Given the description of an element on the screen output the (x, y) to click on. 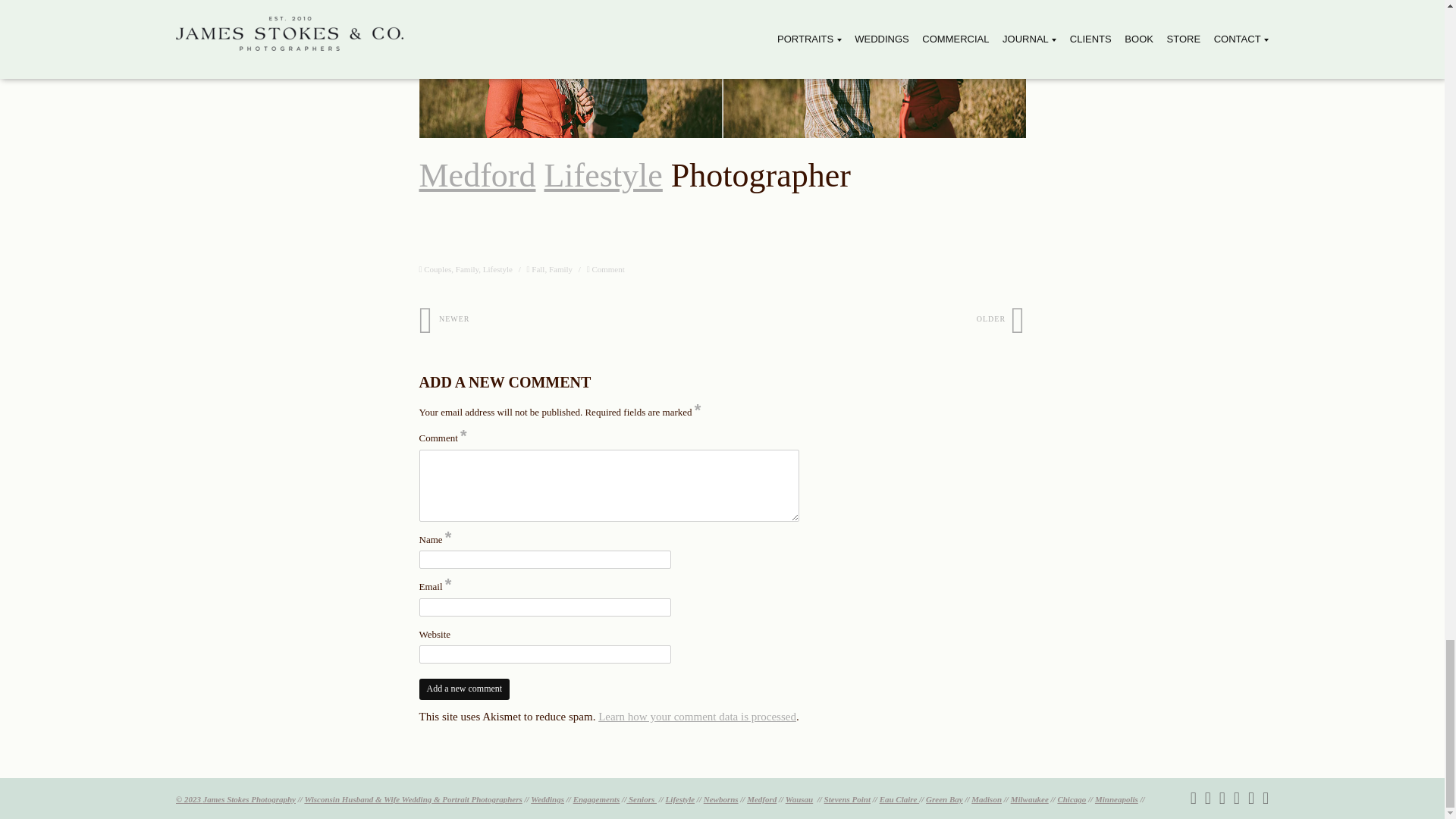
Add a new comment (464, 689)
